Given the description of an element on the screen output the (x, y) to click on. 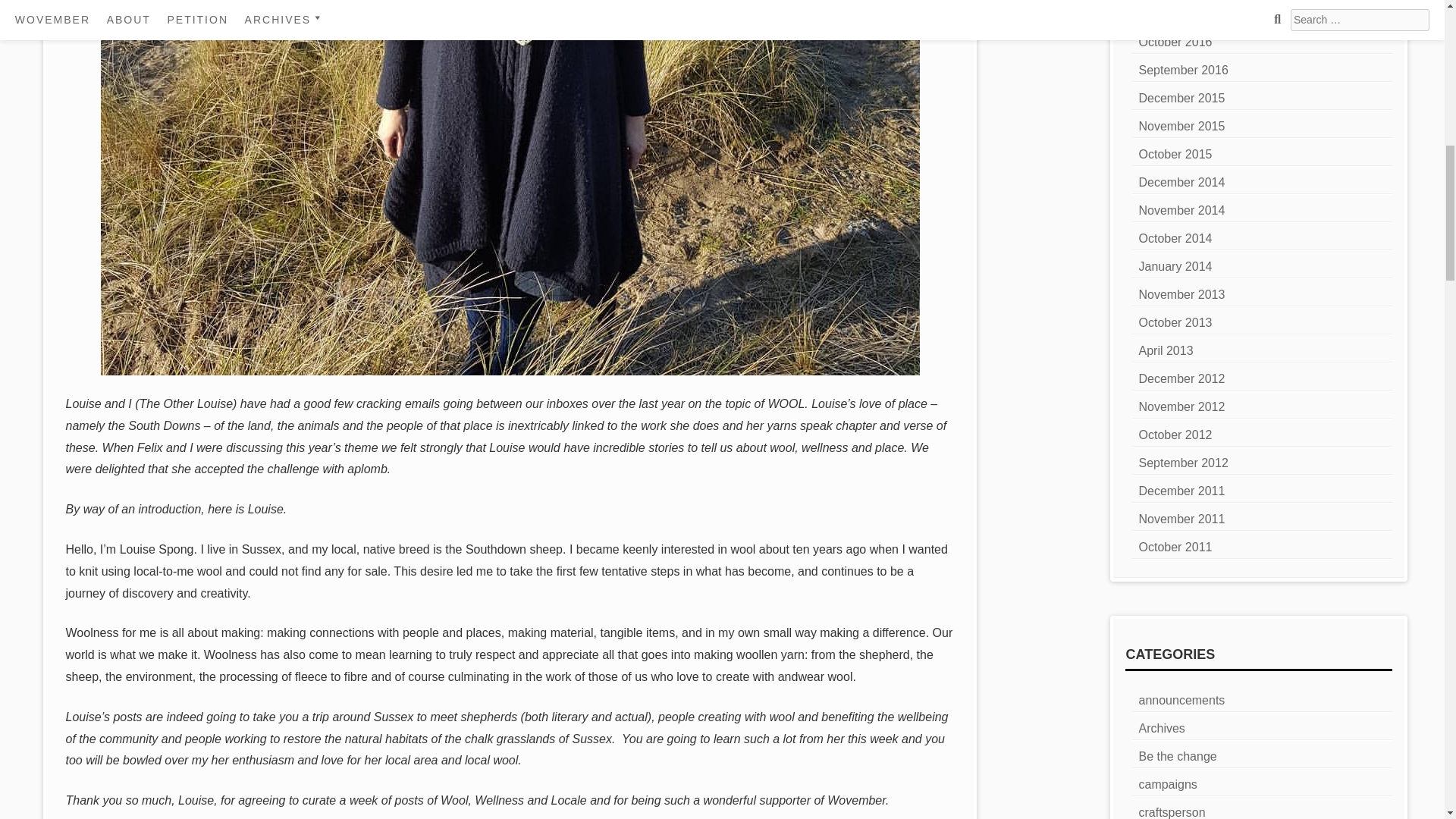
November 2016 (1181, 13)
October 2016 (1174, 42)
